Given the description of an element on the screen output the (x, y) to click on. 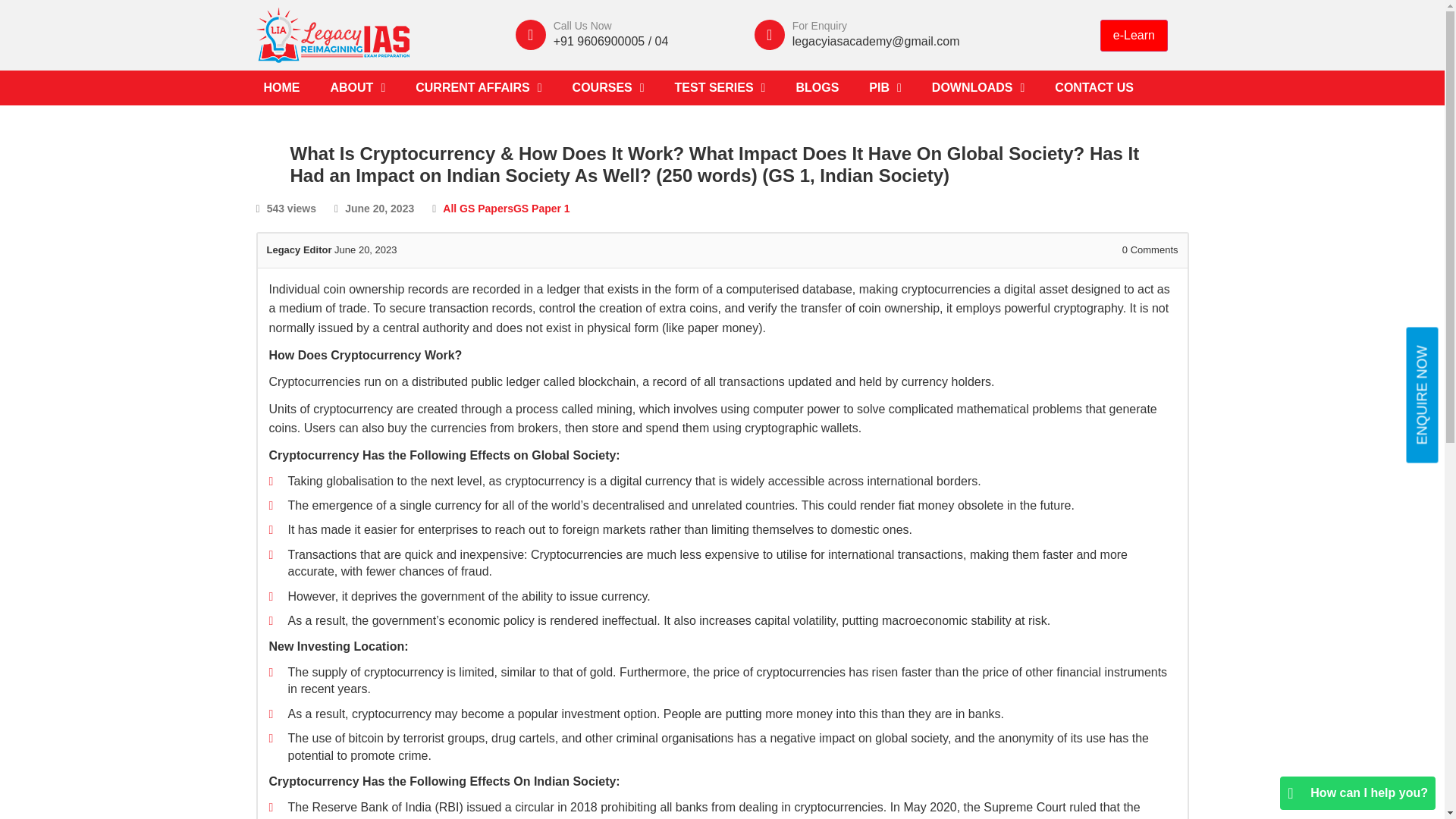
e-Learn (1133, 34)
CURRENT AFFAIRS (478, 87)
HOME (281, 87)
About Legacy IAS (358, 87)
Call Us Now (582, 25)
For Enquiry (819, 25)
e-Learn (1133, 35)
ABOUT (358, 87)
